Given the description of an element on the screen output the (x, y) to click on. 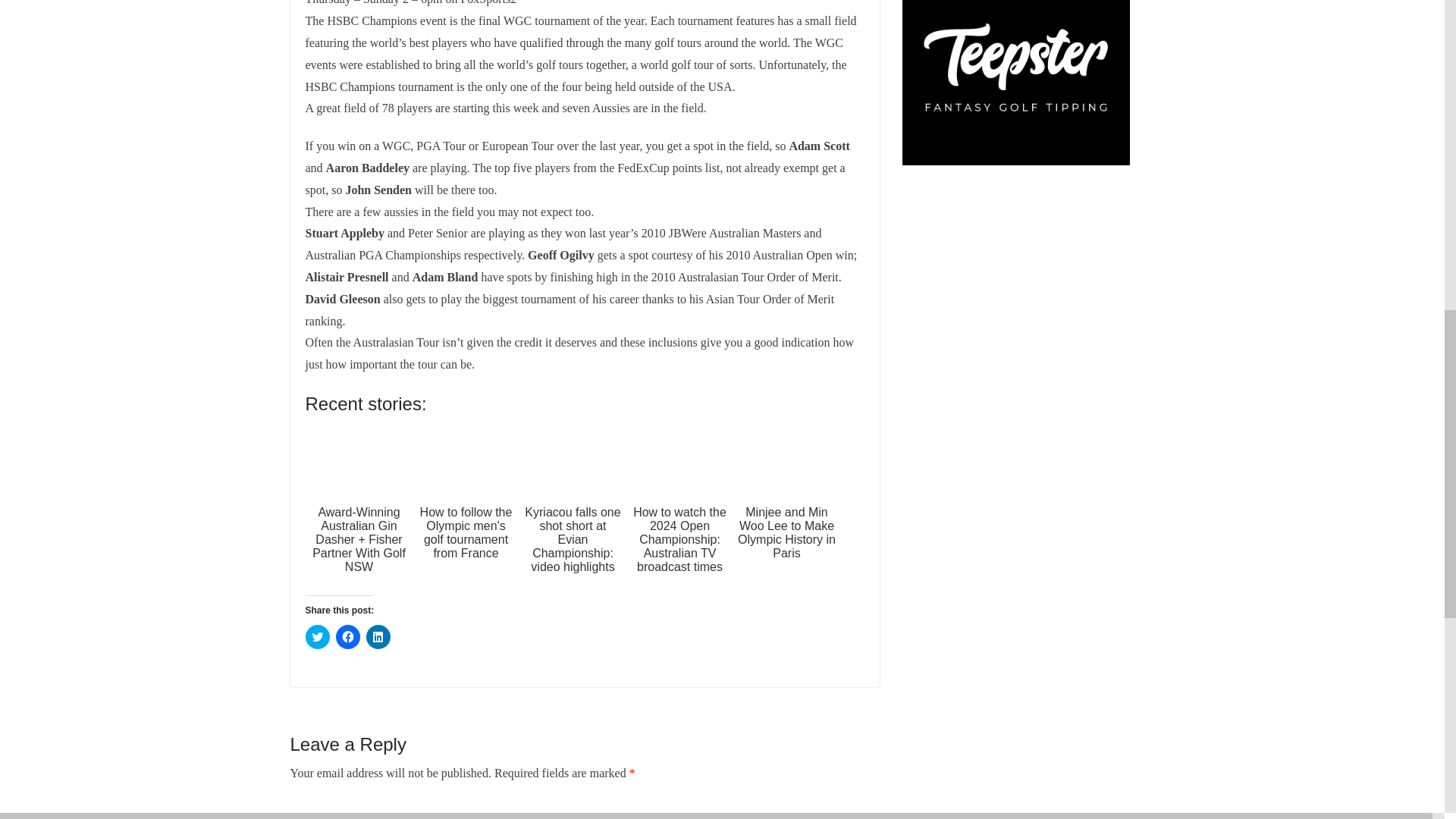
Click to share on Twitter (316, 636)
Click to share on LinkedIn (377, 636)
Click to share on Facebook (346, 636)
